Given the description of an element on the screen output the (x, y) to click on. 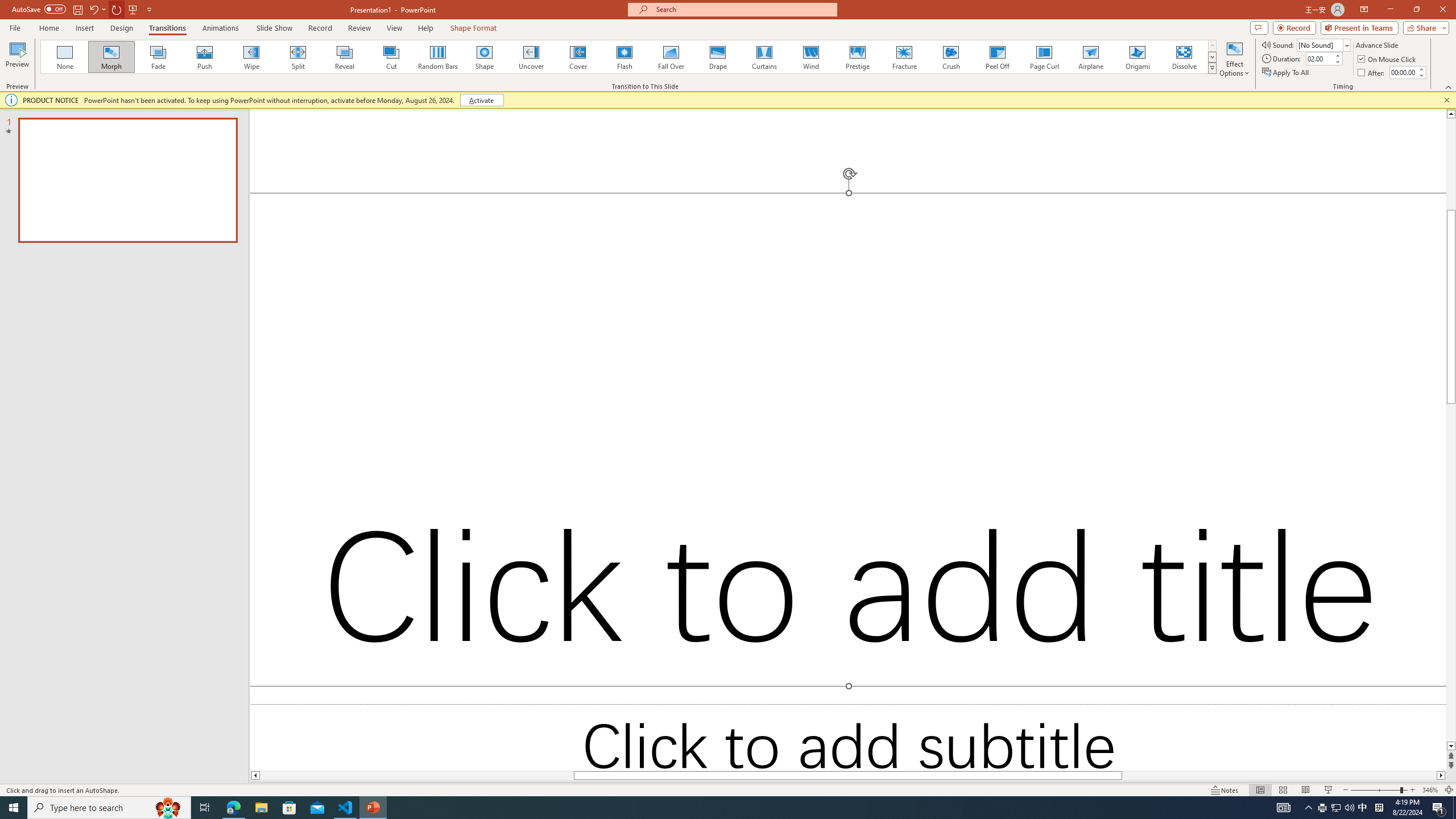
Preview (17, 58)
On Mouse Click (1387, 58)
Crush (950, 56)
Push (205, 56)
More (1420, 69)
Row Down (1212, 56)
Origami (1136, 56)
After (1372, 72)
After (1403, 72)
Row up (1212, 45)
